Given the description of an element on the screen output the (x, y) to click on. 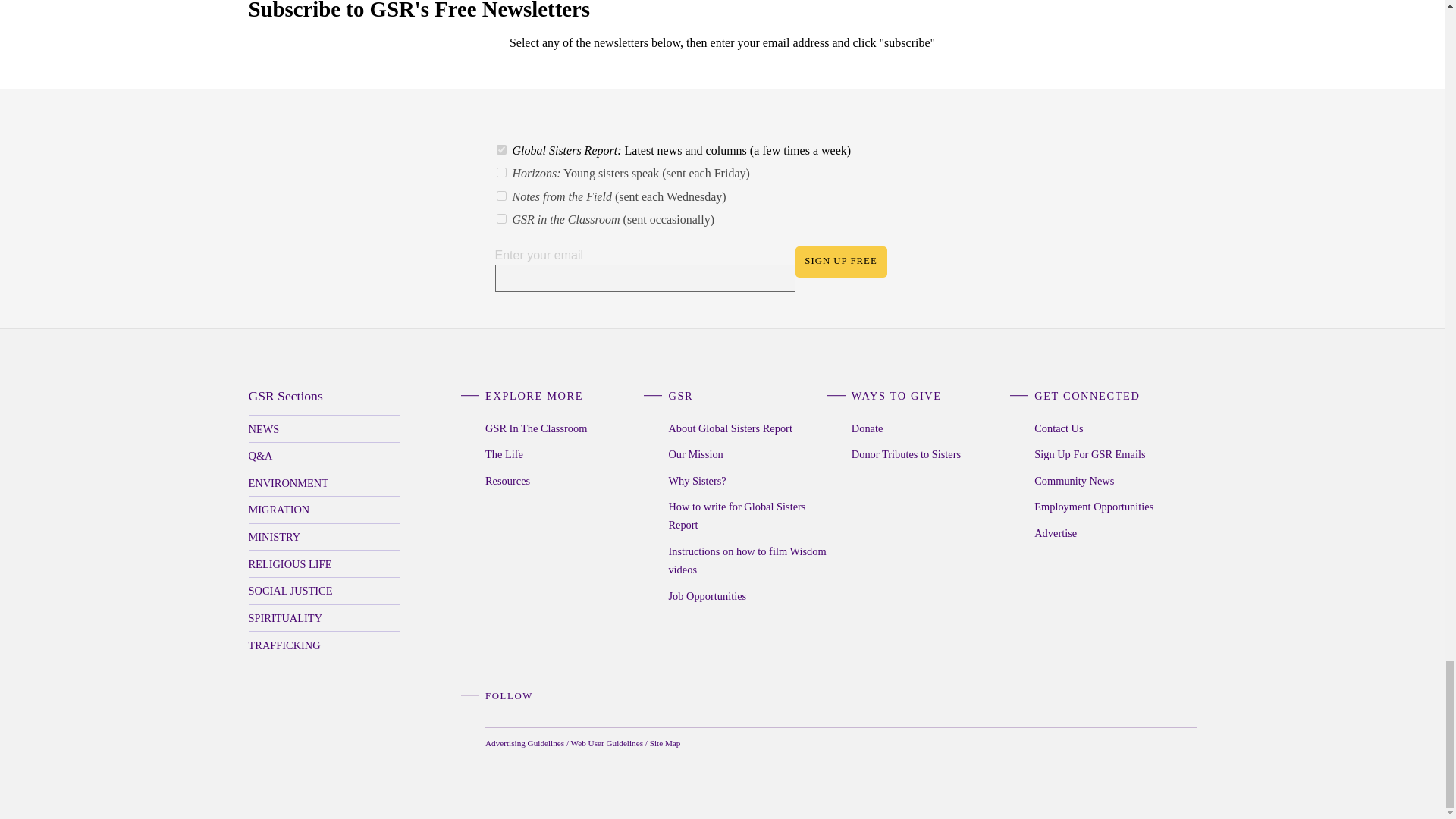
91ddd7f1a1 (500, 172)
Sign up free (840, 261)
773d064319 (500, 149)
Trafficking (324, 644)
Social Justice (324, 591)
Religious Life (324, 563)
757ddab7e2 (500, 218)
518d5fbc7b (500, 195)
Environment (324, 482)
How to write for Global Sisters Report (748, 515)
